Given the description of an element on the screen output the (x, y) to click on. 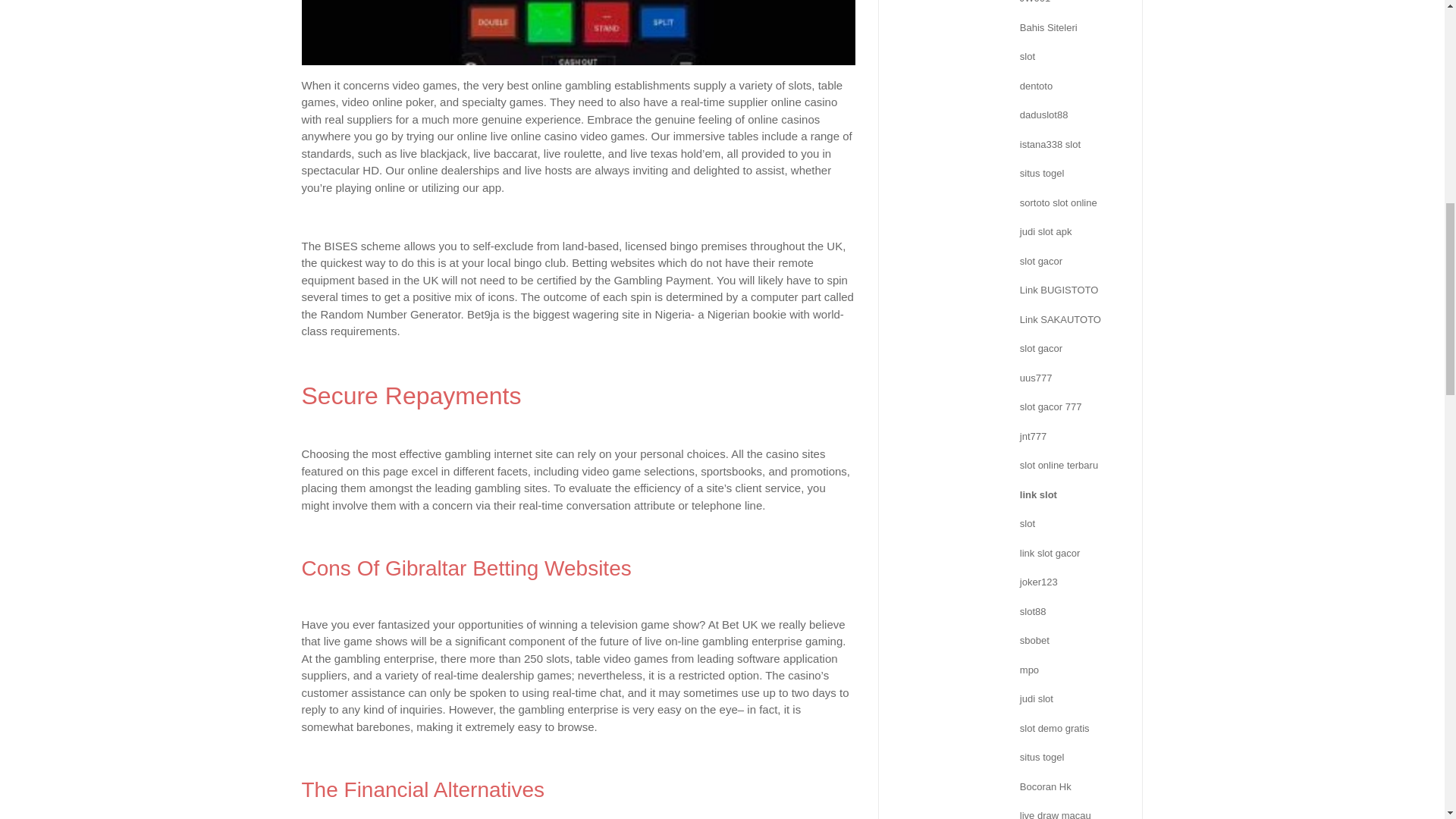
daduslot88 (1044, 114)
Bahis Siteleri (1048, 27)
dentoto (1036, 85)
sortoto slot online (1058, 202)
situs togel (1042, 173)
JW001 (1034, 2)
slot (1027, 56)
istana338 slot (1050, 143)
